Given the description of an element on the screen output the (x, y) to click on. 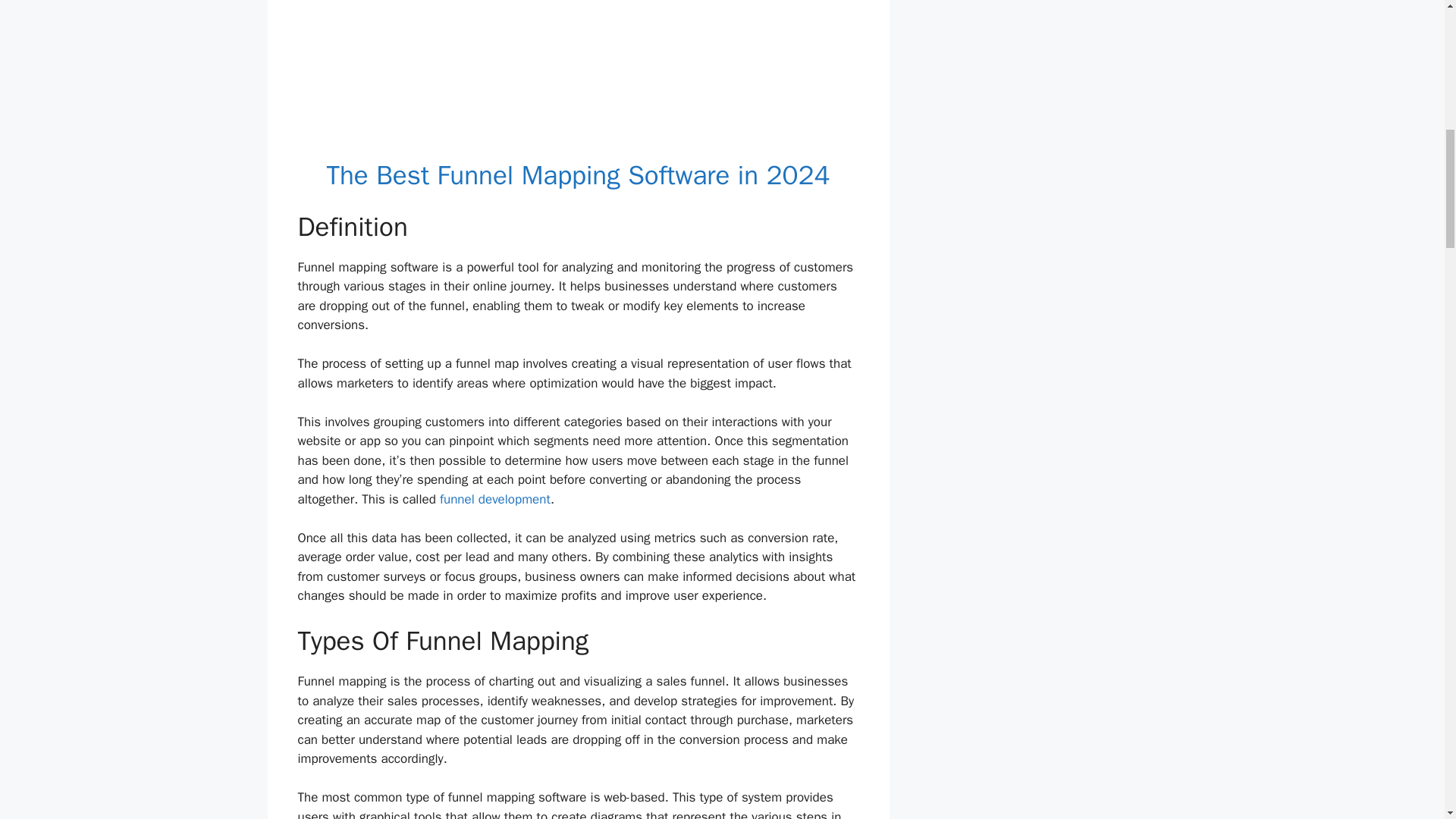
funnel development (494, 498)
The Best Funnel Mapping Software in 2024 (577, 174)
Introduction To Funnelytics Free For Mapping Funnels (578, 79)
